Given the description of an element on the screen output the (x, y) to click on. 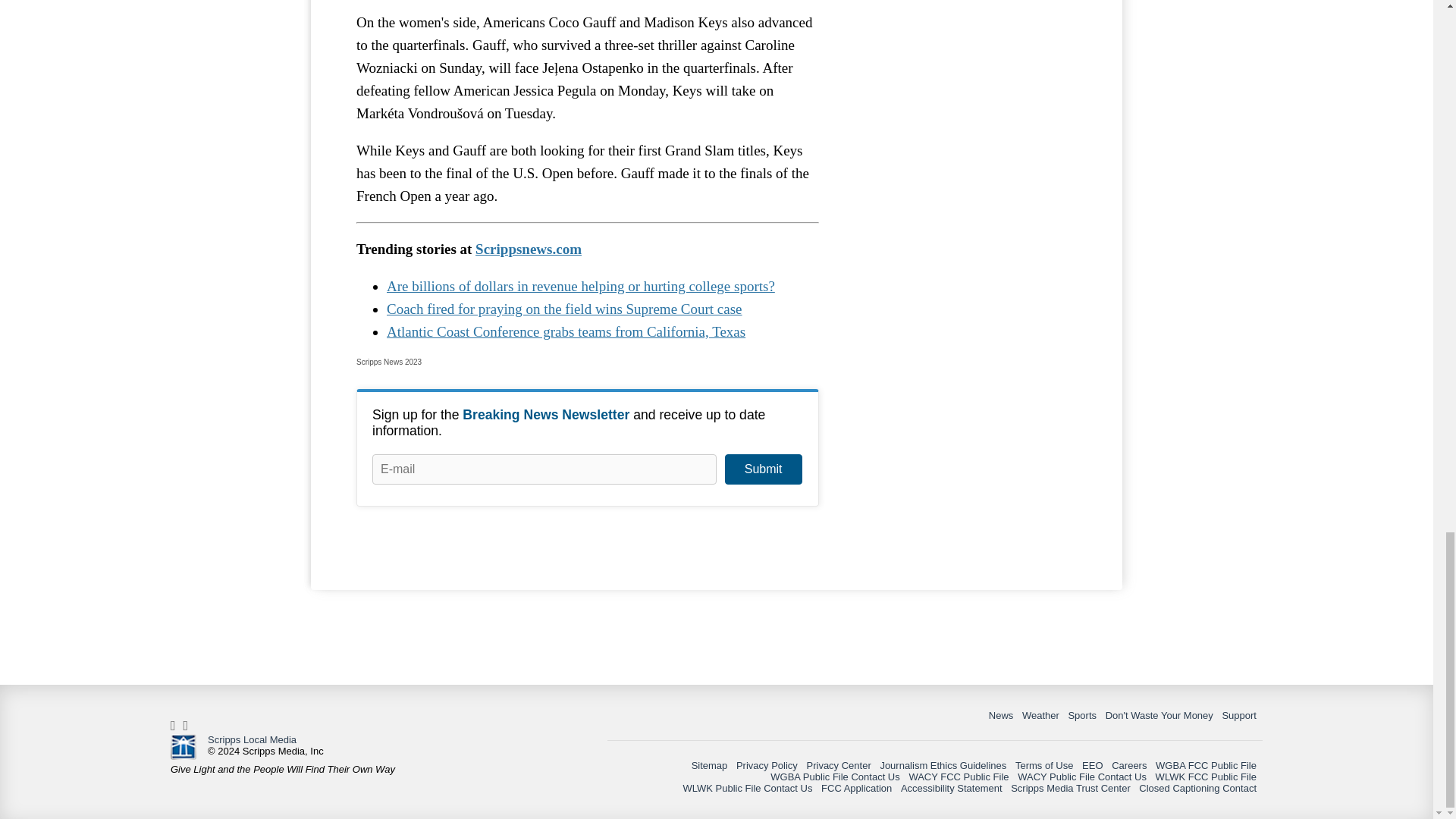
Submit (763, 469)
